Given the description of an element on the screen output the (x, y) to click on. 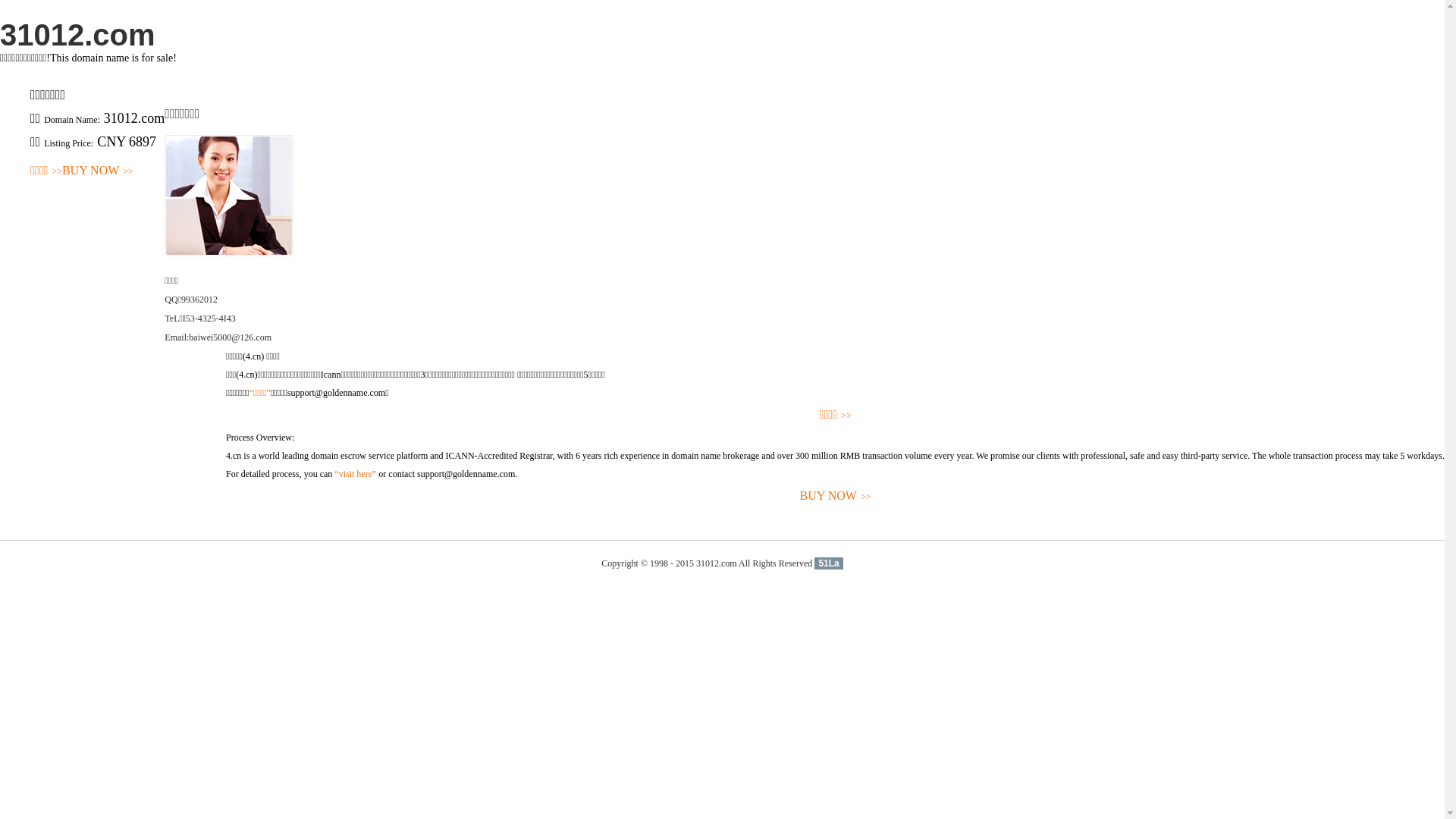
51La Element type: text (828, 563)
BUY NOW>> Element type: text (834, 496)
BUY NOW>> Element type: text (97, 170)
